Given the description of an element on the screen output the (x, y) to click on. 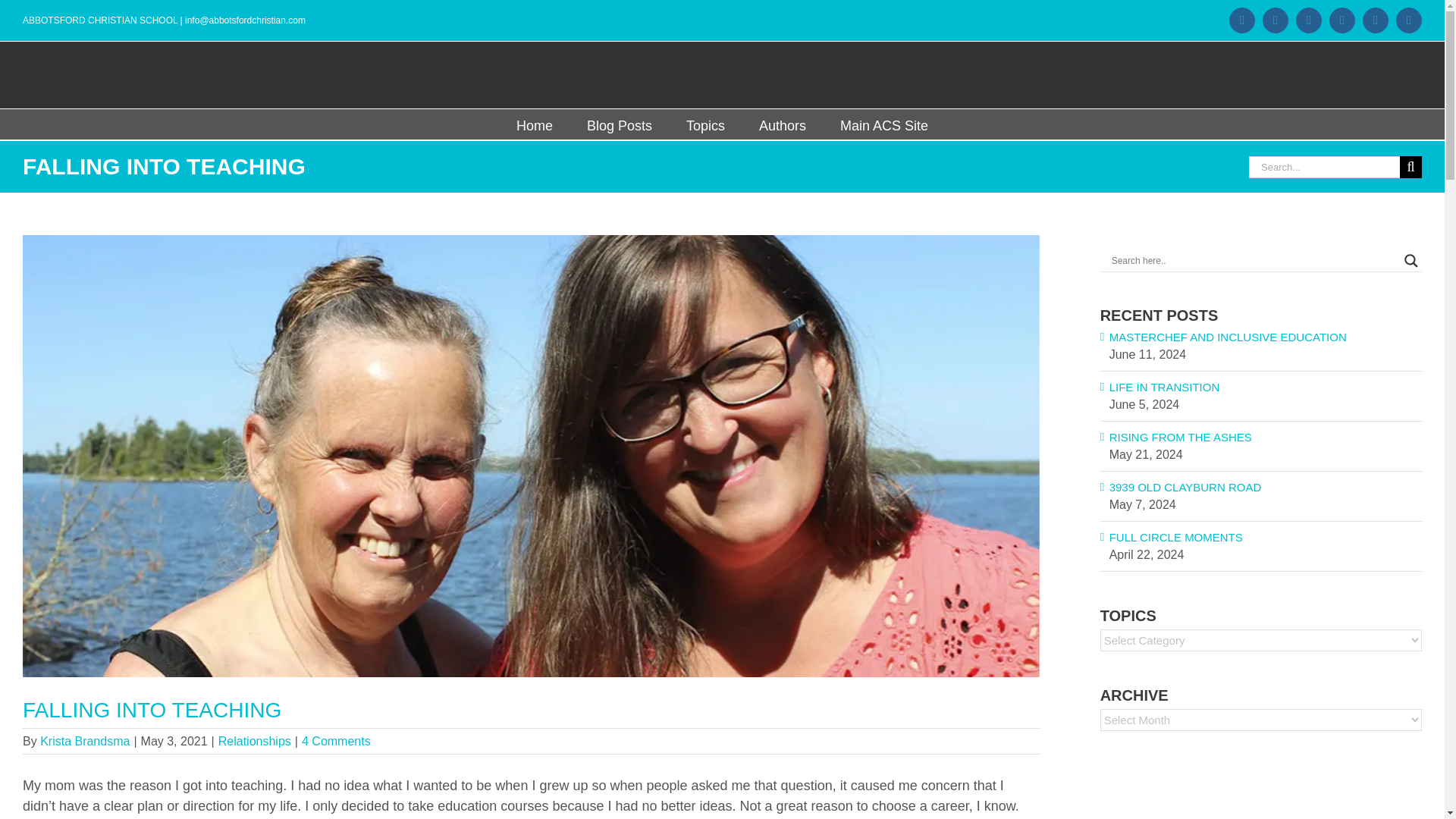
YouTube (1342, 20)
Instagram (1275, 20)
Facebook (1241, 20)
Topics (705, 123)
Vimeo (1308, 20)
X (1375, 20)
Facebook (1241, 20)
Blog Posts (619, 123)
YouTube (1342, 20)
Home (534, 123)
Email (1409, 20)
Posts by Krista Brandsma (84, 740)
X (1375, 20)
Instagram (1275, 20)
Vimeo (1308, 20)
